Given the description of an element on the screen output the (x, y) to click on. 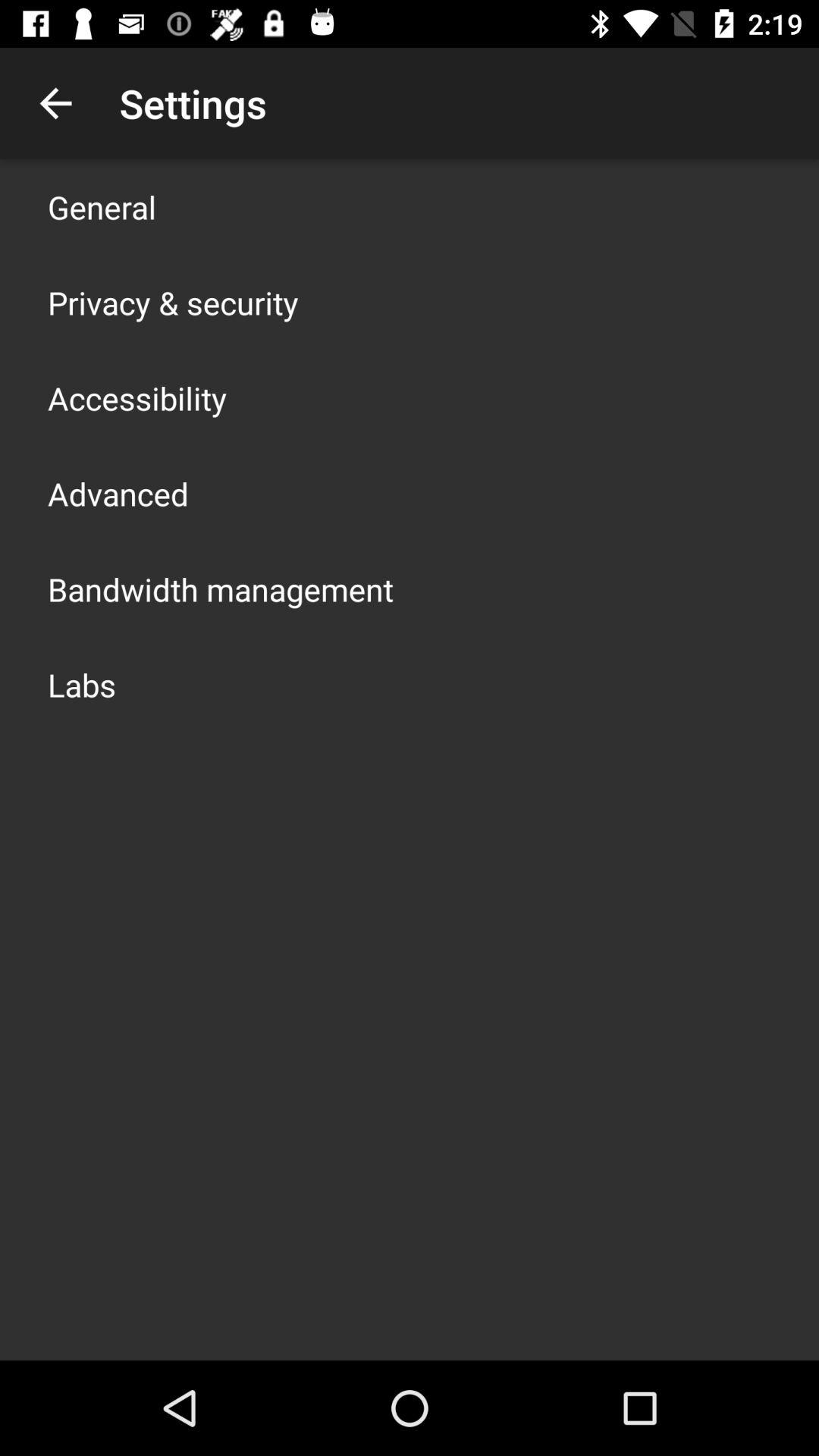
swipe until general (101, 206)
